Given the description of an element on the screen output the (x, y) to click on. 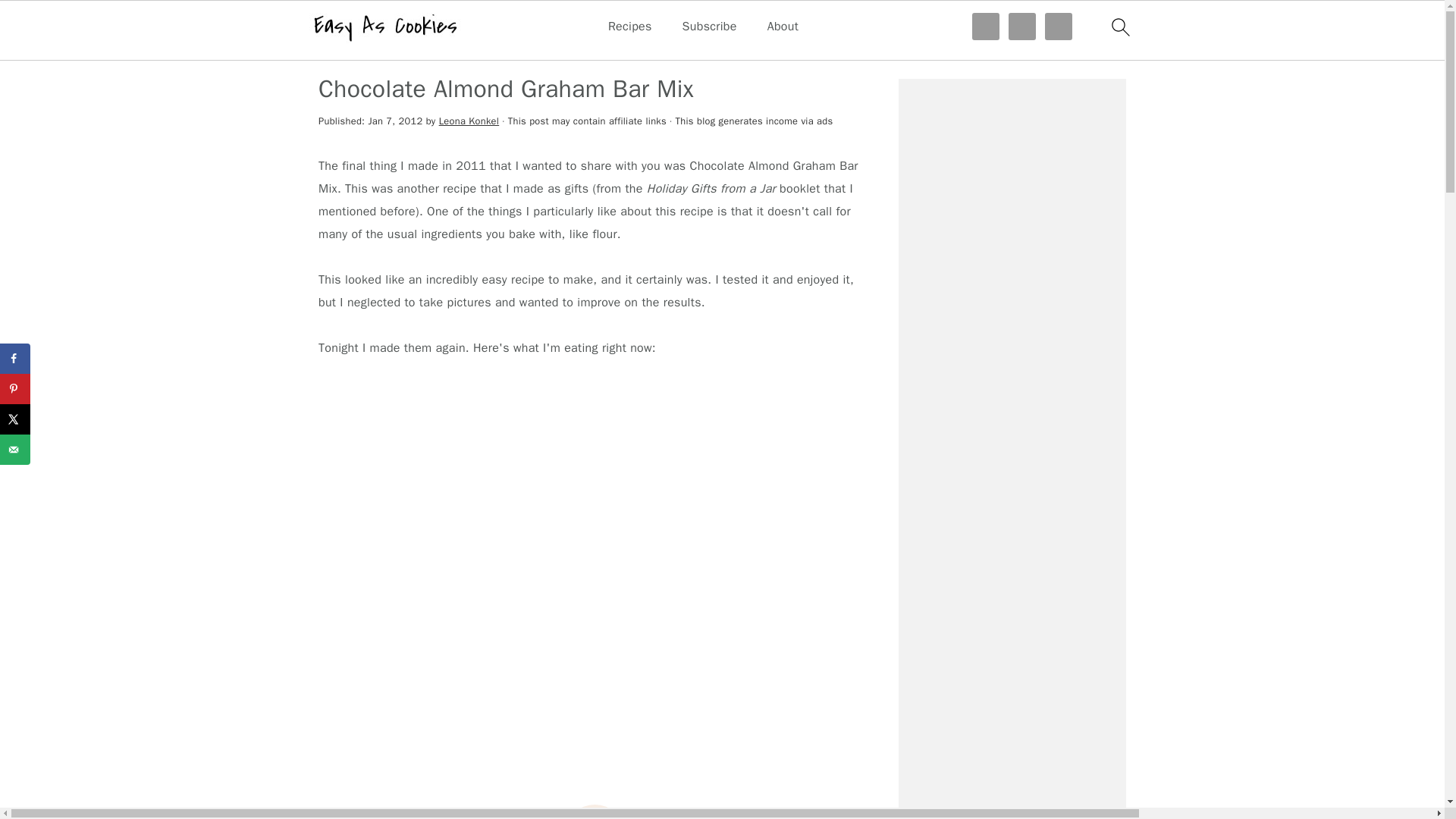
Share on X (15, 418)
Share on Facebook (15, 358)
Save to Pinterest (15, 388)
Recipes (630, 26)
Subscribe (709, 26)
Recipes (384, 50)
search icon (1119, 26)
Leona Konkel (469, 121)
About (782, 26)
Send over email (15, 449)
Home (334, 50)
